Given the description of an element on the screen output the (x, y) to click on. 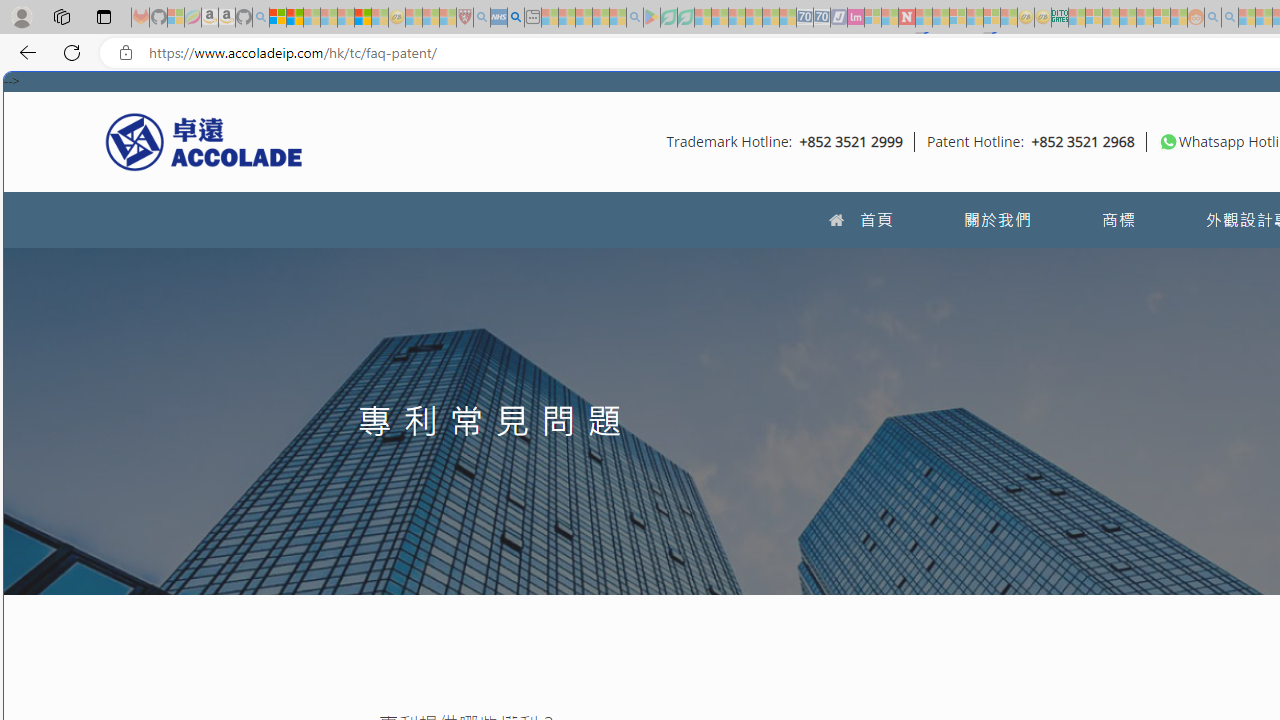
Expert Portfolios - Sleeping (1128, 17)
